Given the description of an element on the screen output the (x, y) to click on. 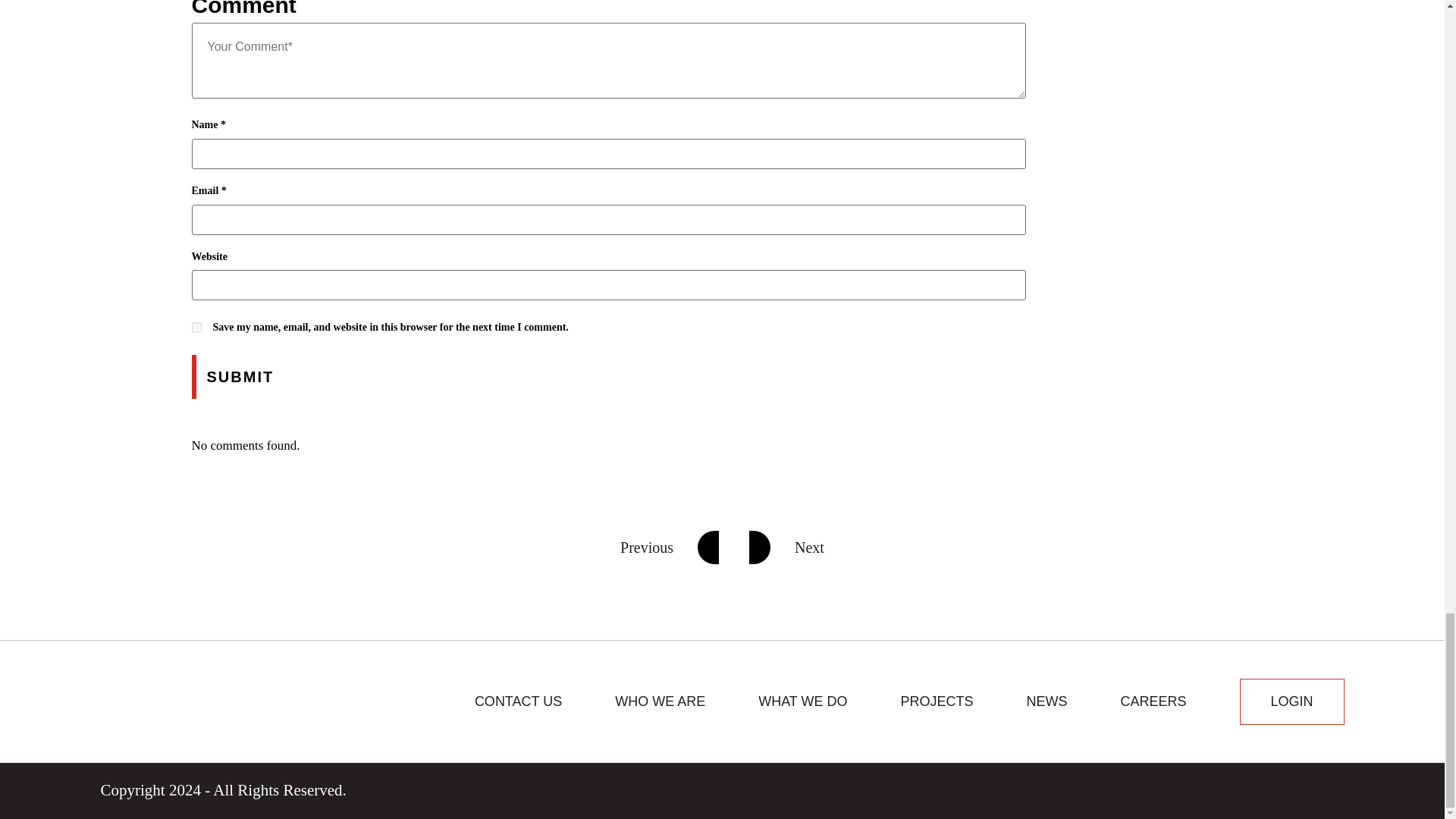
WHO WE ARE (659, 701)
LOGIN (1291, 701)
PROJECTS (937, 701)
WHAT WE DO (802, 701)
Previous (669, 547)
NEWS (1046, 701)
CONTACT US (518, 701)
SUBMIT (239, 376)
Next (786, 547)
CAREERS (1153, 701)
